Given the description of an element on the screen output the (x, y) to click on. 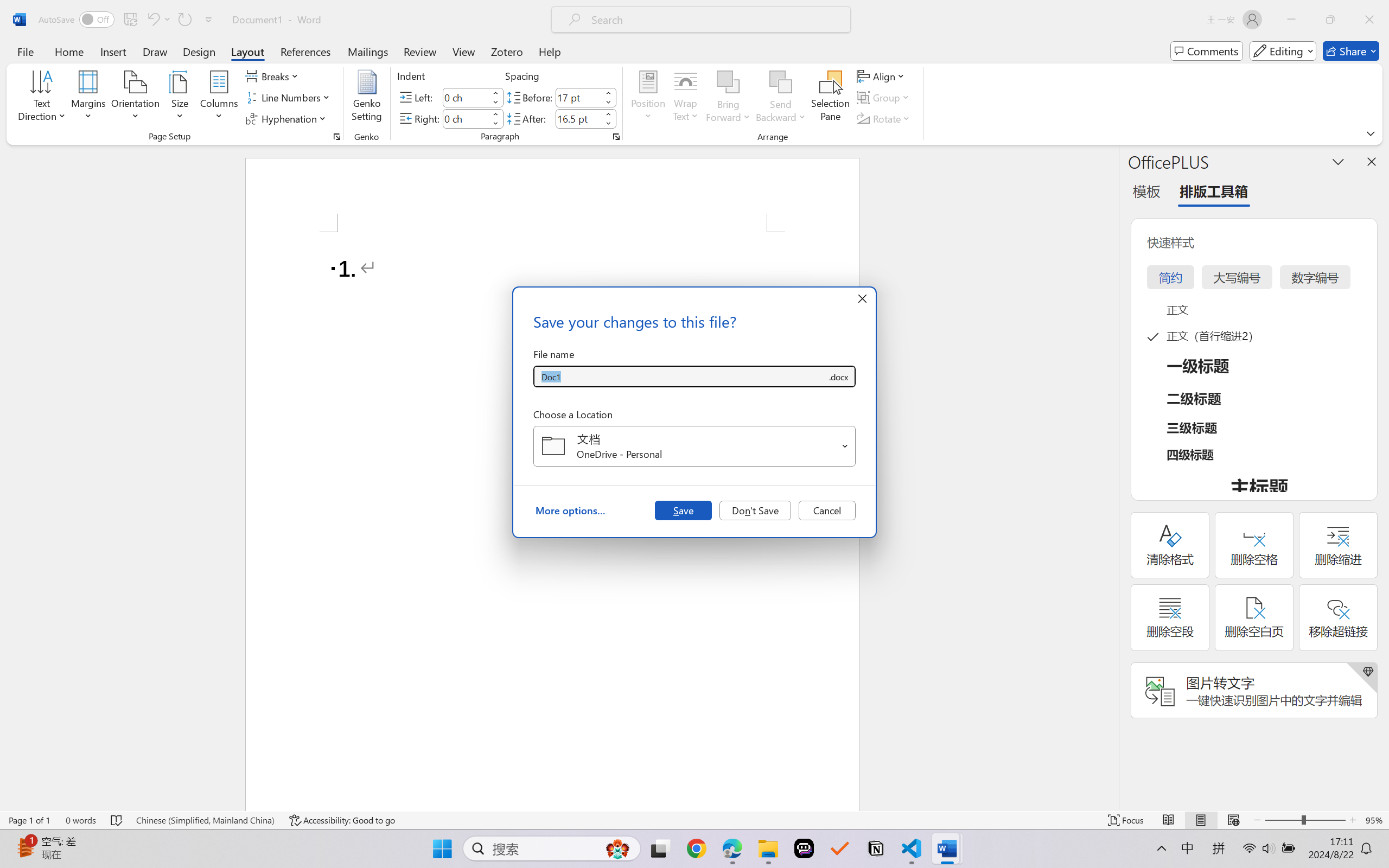
Language Chinese (Simplified, Mainland China) (205, 819)
Zoom 95% (1374, 819)
Indent Right (465, 118)
